Given the description of an element on the screen output the (x, y) to click on. 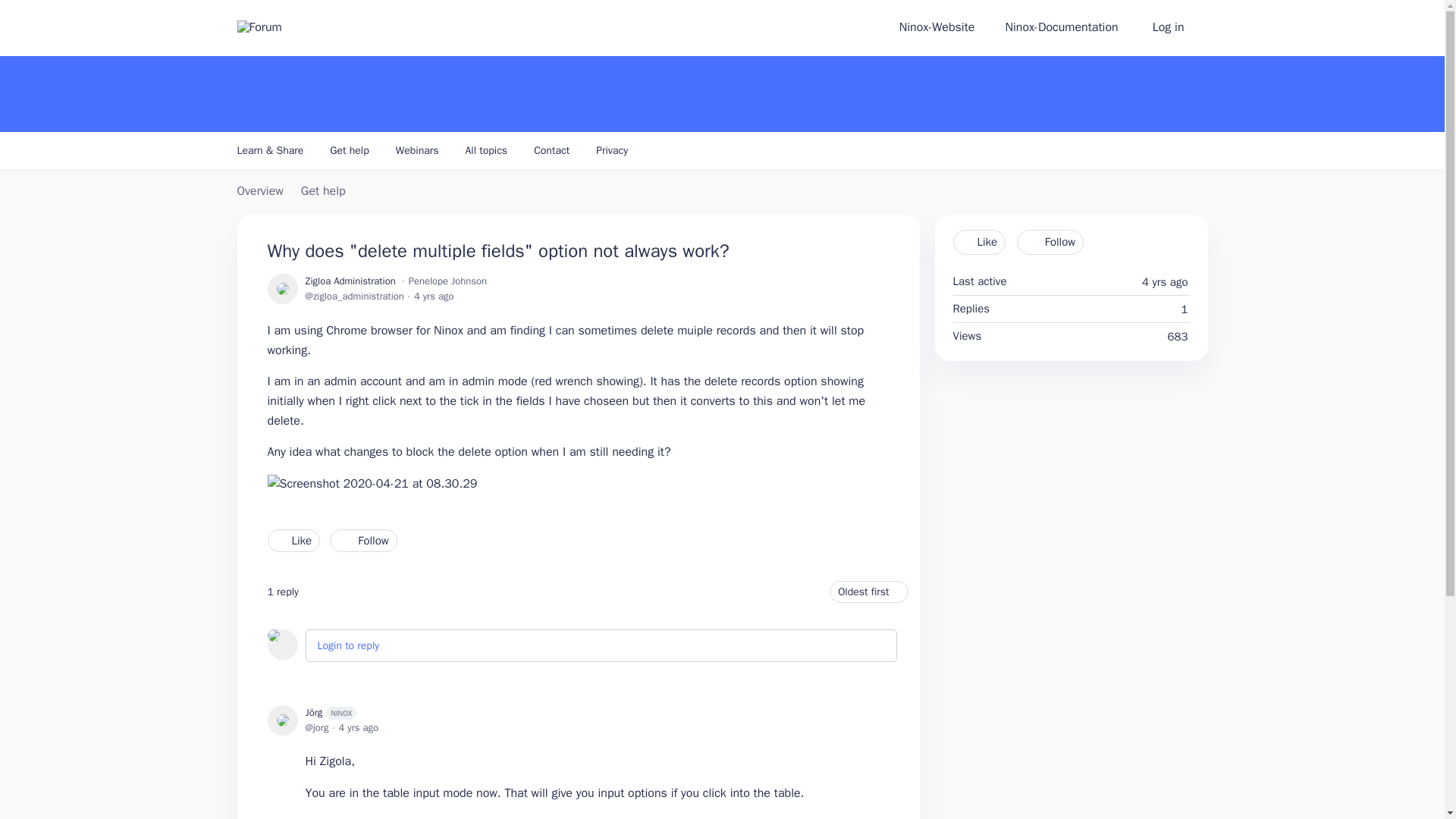
Webinars (417, 156)
Ninox-Website (937, 28)
Oldest first (868, 591)
Privacy (611, 156)
Login to reply (347, 645)
Log in (1178, 28)
Like (979, 242)
Overview (258, 191)
Ninox-Documentation (1061, 28)
All topics (486, 156)
